Given the description of an element on the screen output the (x, y) to click on. 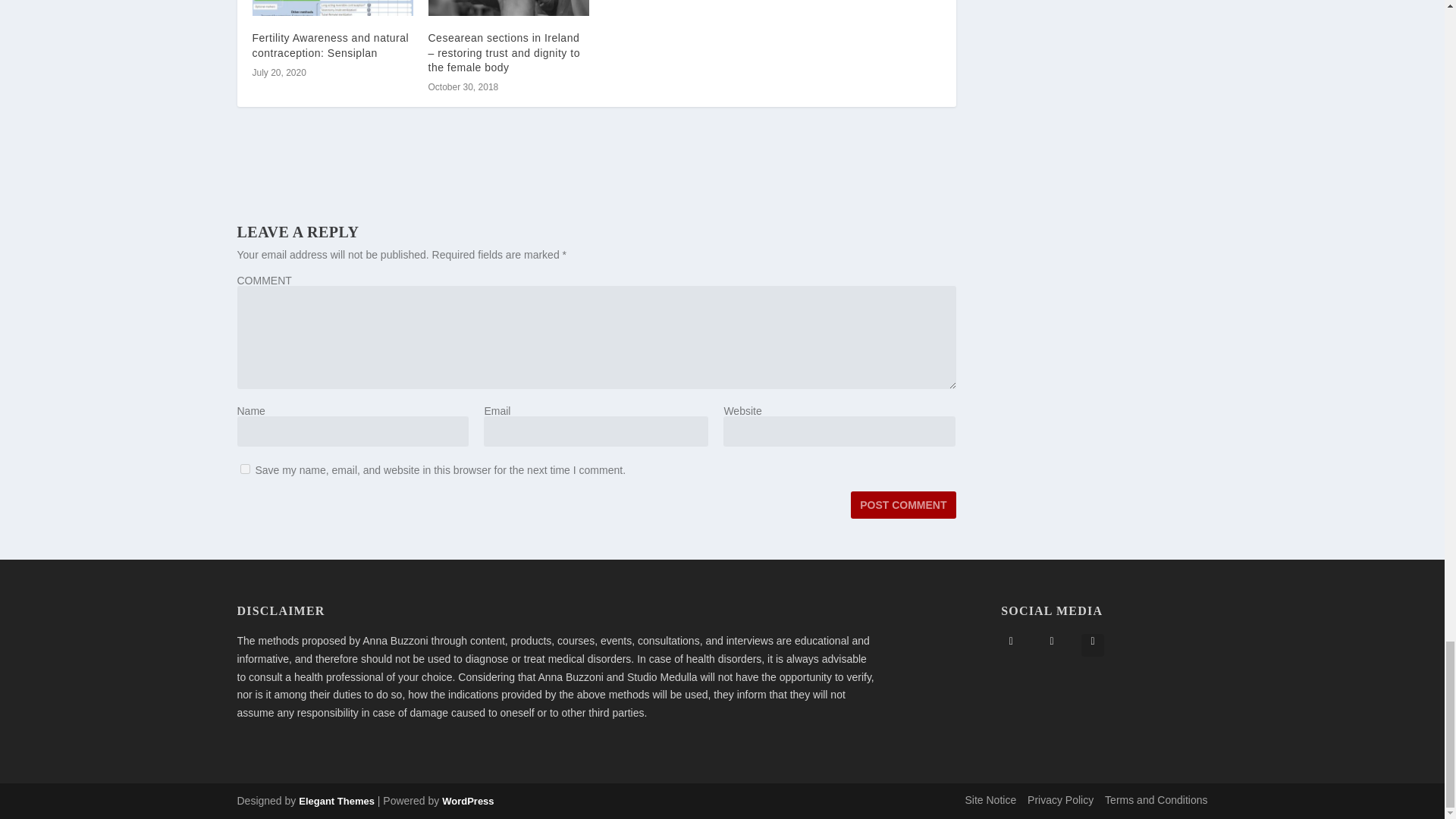
Fertility Awareness and natural contraception: Sensiplan (331, 7)
Premium WordPress Themes (336, 800)
Post Comment (902, 504)
yes (244, 469)
Fertility Awareness and natural contraception: Sensiplan (330, 44)
